Given the description of an element on the screen output the (x, y) to click on. 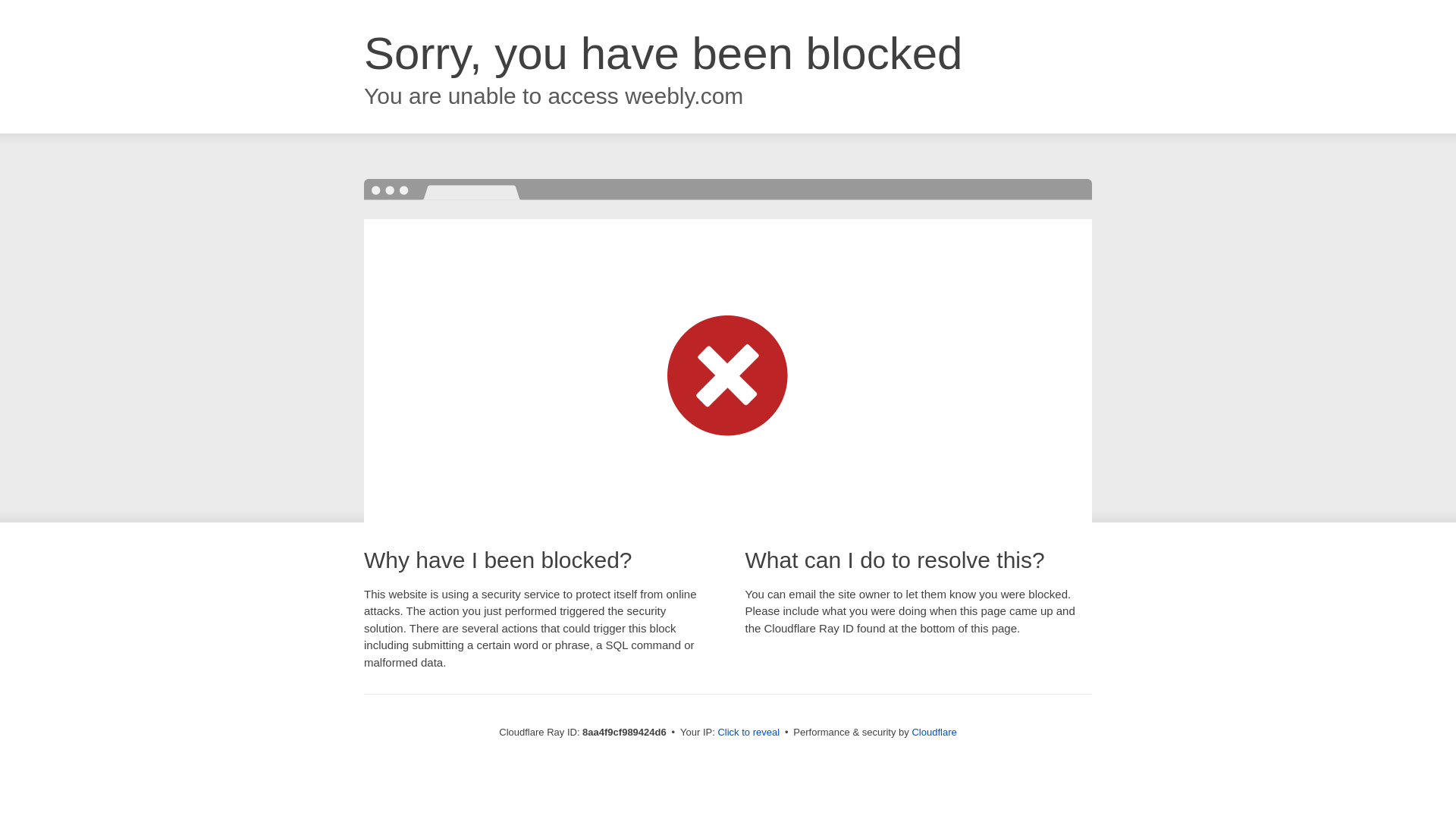
Click to reveal (747, 732)
Cloudflare (933, 731)
